Given the description of an element on the screen output the (x, y) to click on. 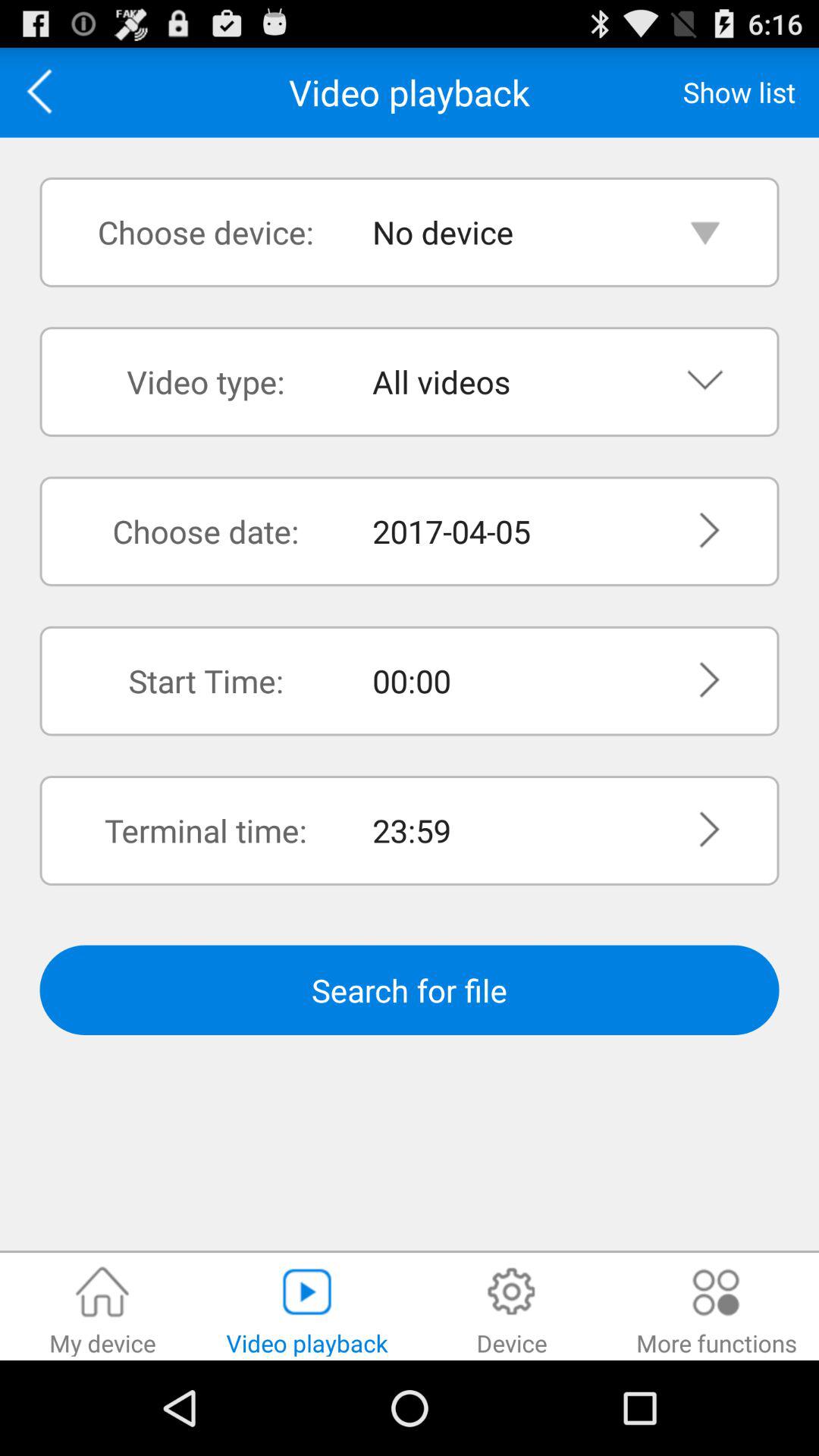
launch item below the terminal time: item (409, 990)
